Given the description of an element on the screen output the (x, y) to click on. 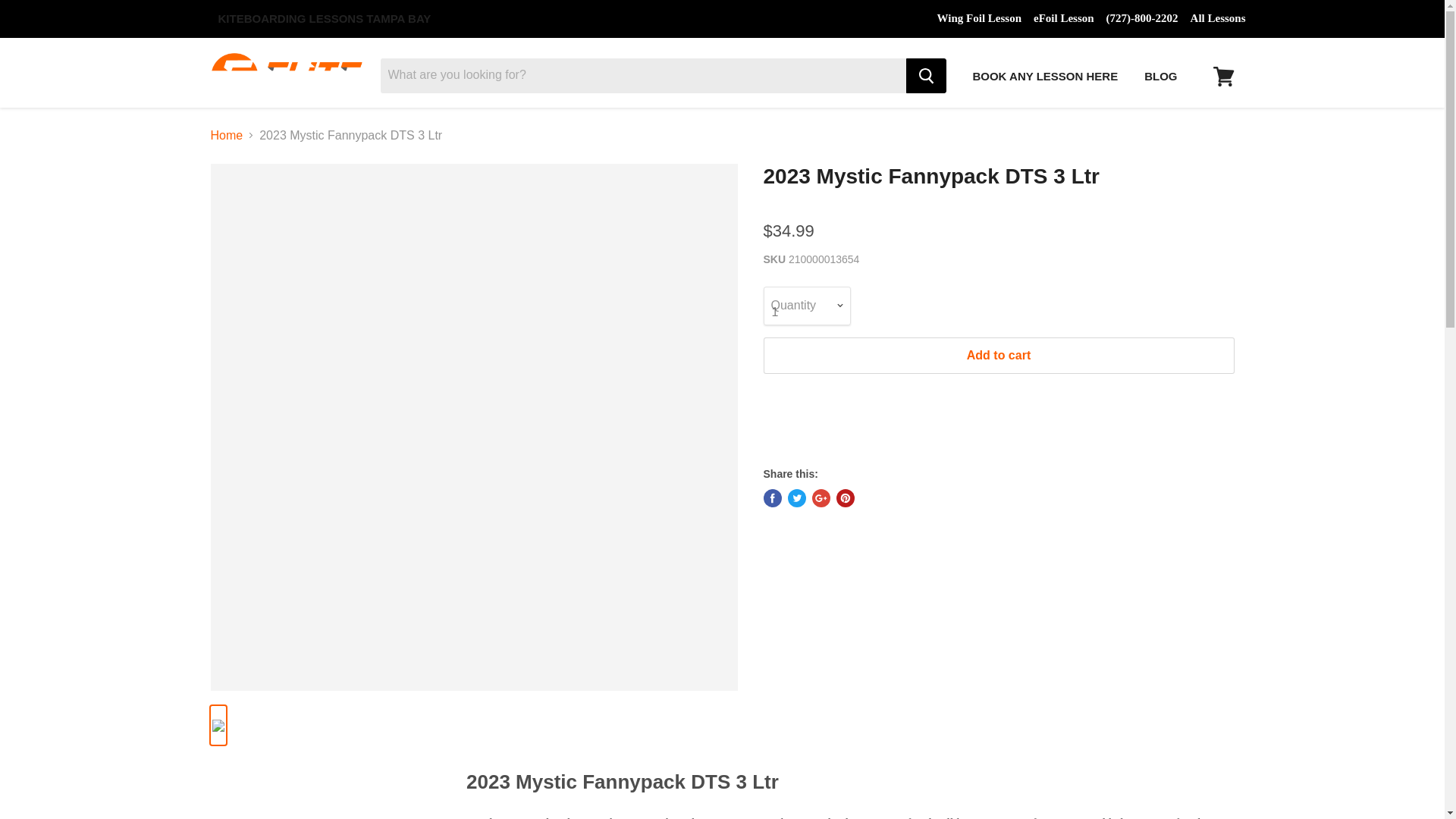
Add to cart (997, 355)
Pin on Pinterest (844, 497)
eFoil Lesson (1063, 18)
KITEBOARDING LESSONS TAMPA BAY (323, 18)
Tweet on Twitter (796, 497)
All Lessons (1218, 18)
View cart (1223, 76)
Home (227, 135)
Share on Facebook (771, 497)
BLOG (1160, 76)
